Given the description of an element on the screen output the (x, y) to click on. 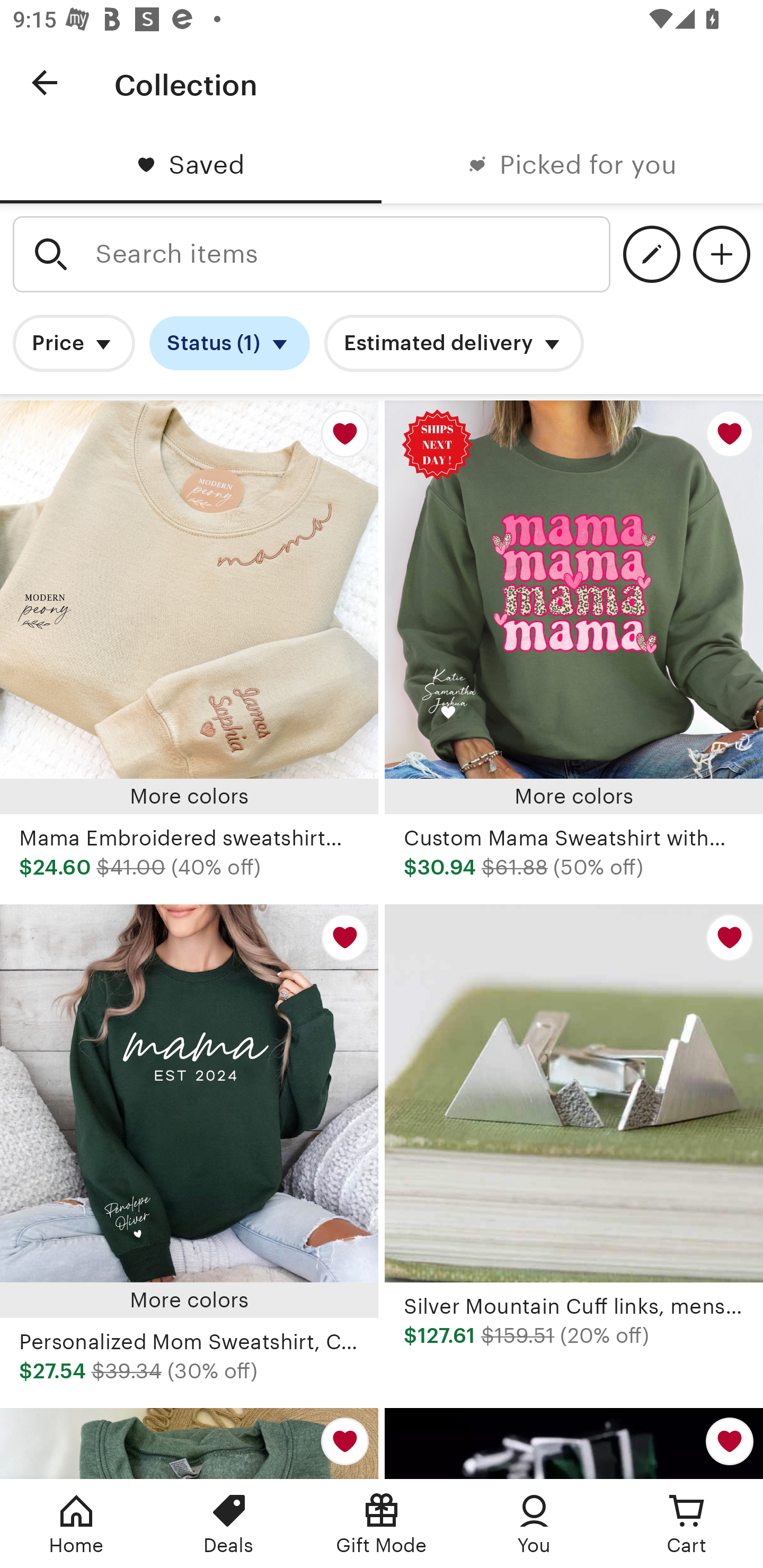
Navigate up (44, 82)
Picked for you, tab 2 of 2 Picked for you (572, 165)
Search items (311, 253)
Edit collection (651, 253)
Create collection (721, 253)
Price (73, 343)
Status (1) (229, 343)
Estimated delivery (453, 343)
Home (76, 1523)
Gift Mode (381, 1523)
You (533, 1523)
Cart (686, 1523)
